Given the description of an element on the screen output the (x, y) to click on. 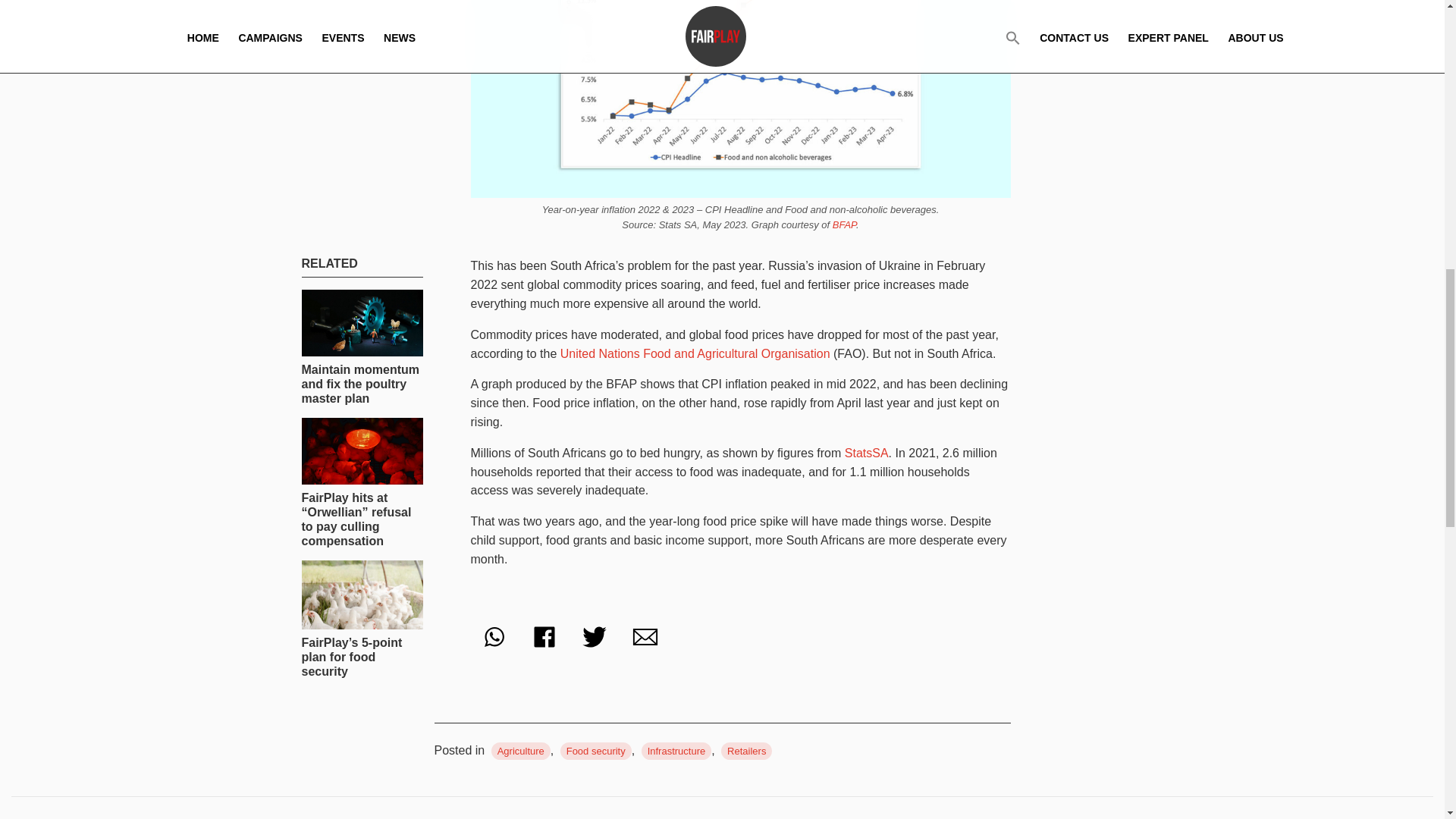
Maintain momentum and fix the poultry master plan (362, 347)
Tweet (593, 637)
Agriculture (521, 751)
Share on Facebook (544, 637)
WhatsApp this (493, 637)
Infrastructure (676, 751)
United Nations Food and Agricultural Organisation (694, 353)
StatsSA (866, 452)
Retailers (745, 751)
Food security (595, 751)
Email (644, 637)
BFAP (844, 224)
